Given the description of an element on the screen output the (x, y) to click on. 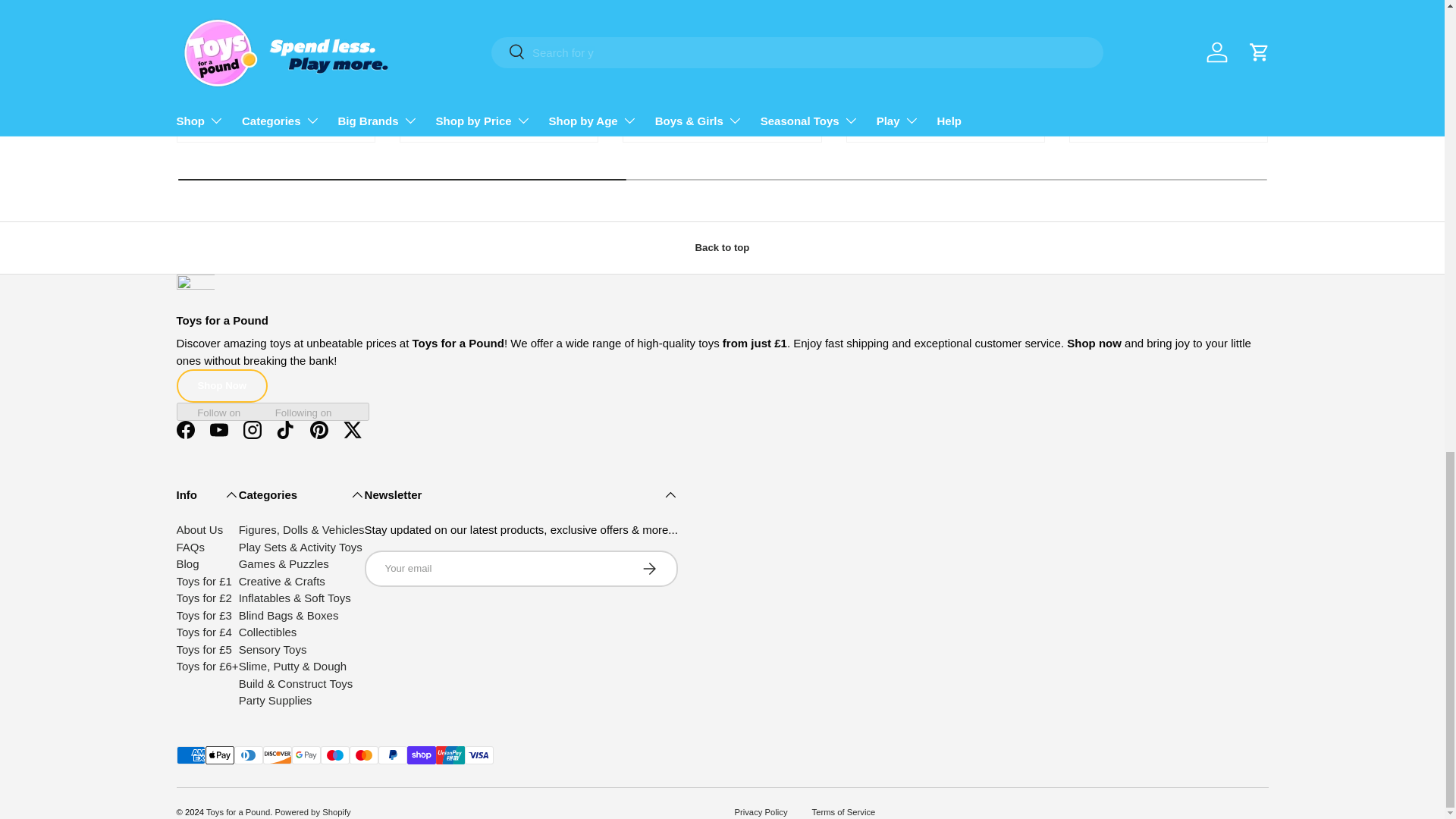
Toys for a Pound on Facebook (185, 429)
Toys for a Pound on Pinterest (317, 429)
Toys for a Pound on Twitter (351, 429)
Toys for a Pound on TikTok (284, 429)
Toys for a Pound on Instagram (250, 429)
Toys for a Pound on YouTube (218, 429)
